Given the description of an element on the screen output the (x, y) to click on. 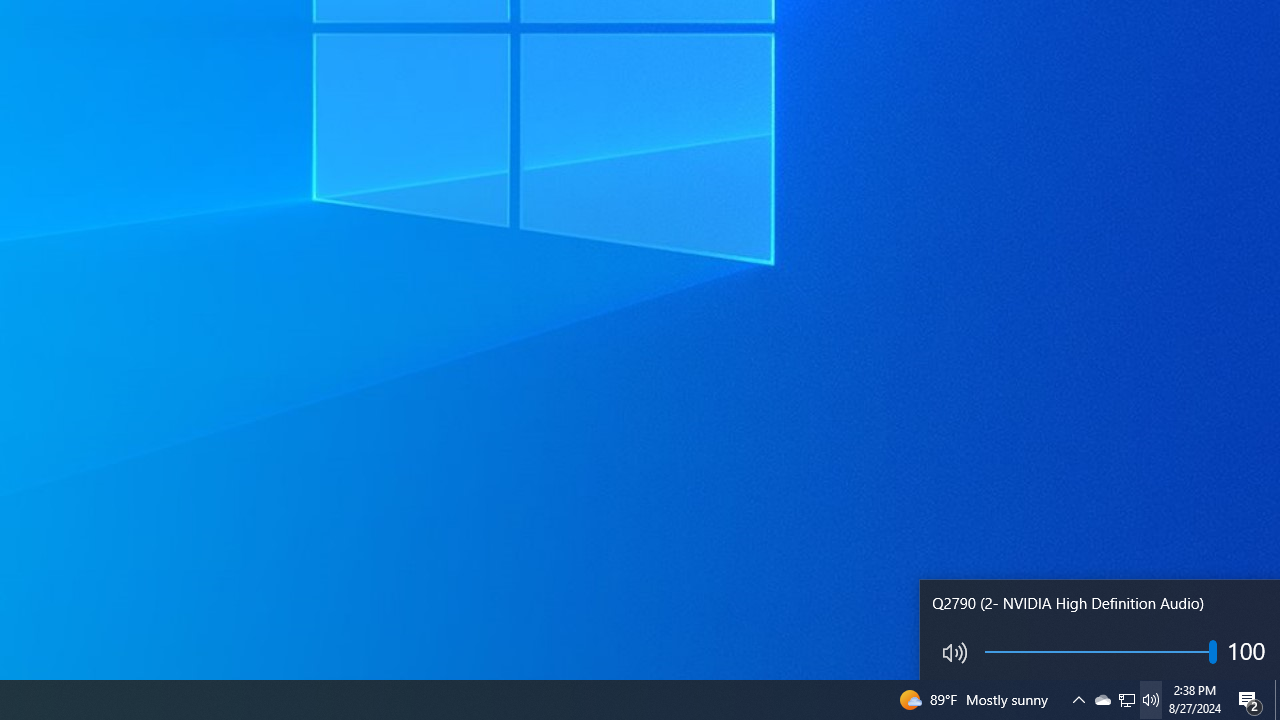
Mute toggle (950, 651)
Volume (1101, 655)
Q2790 (2- NVIDIA High Definition Audio) (1100, 629)
Action Center, 2 new notifications (1250, 699)
